Given the description of an element on the screen output the (x, y) to click on. 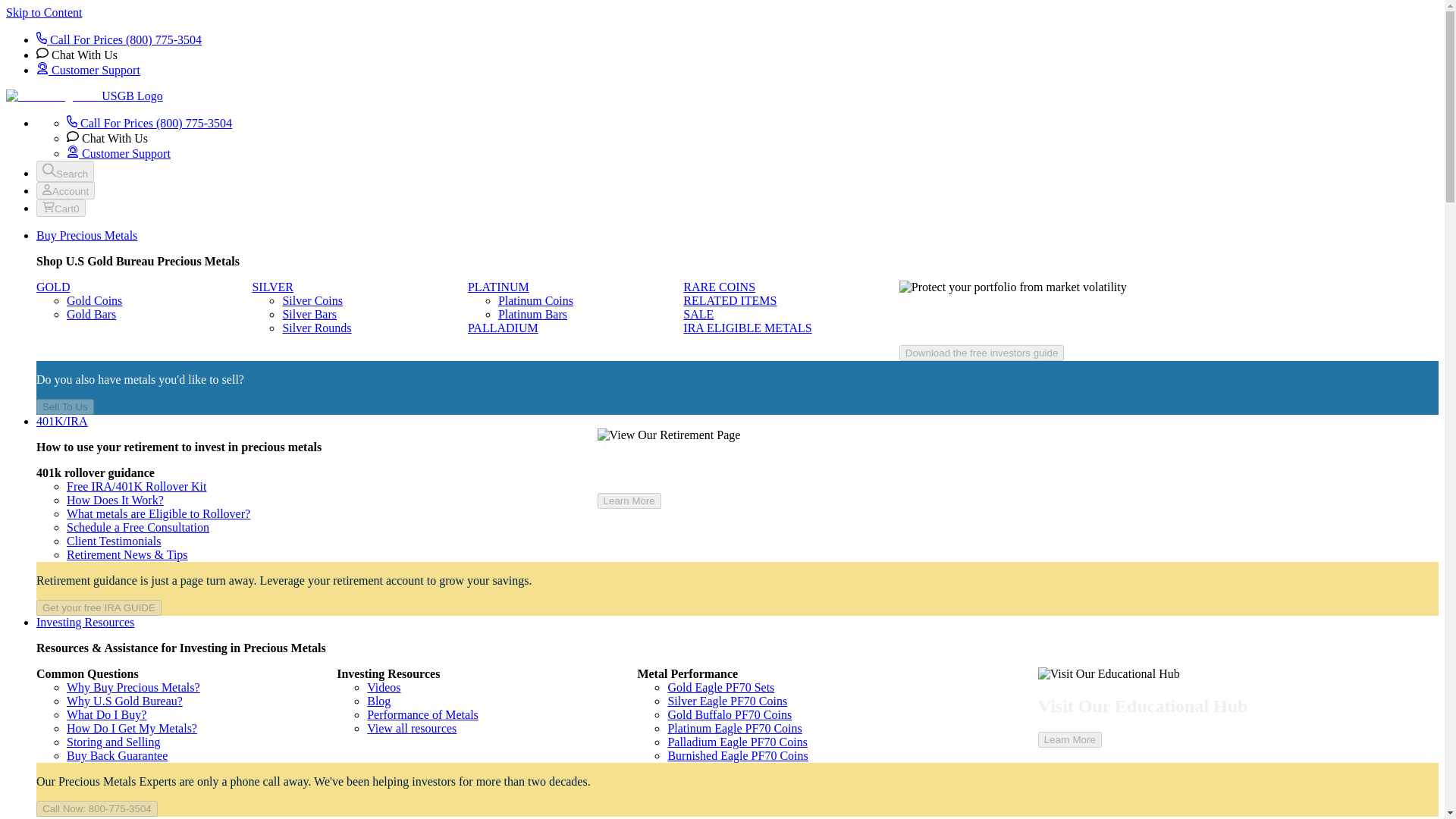
Get your free IRA GUIDE (98, 607)
RARE COINS (718, 286)
USGB Logo (84, 95)
Gold Bars (91, 314)
Download the free investors guide (981, 352)
How Does It Work? (114, 499)
Chat With Us (76, 54)
SILVER (272, 286)
Platinum Coins (535, 300)
Customer Support (87, 69)
Download the free investors guide (981, 351)
Customer Support (118, 153)
Skip to Content (43, 11)
Gold Coins (94, 300)
RELATED ITEMS (729, 300)
